Given the description of an element on the screen output the (x, y) to click on. 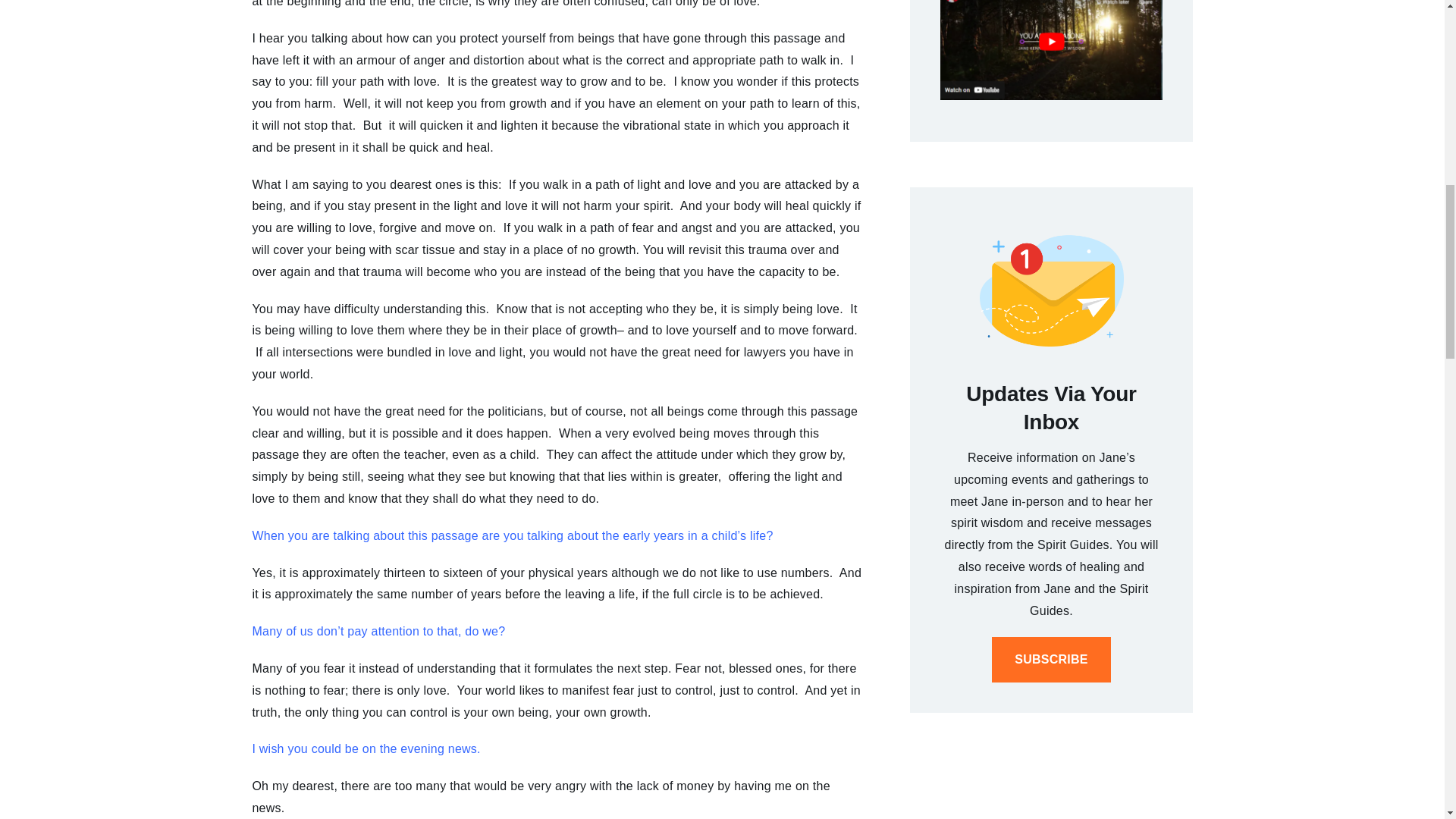
newsletter-icon (1051, 289)
